Given the description of an element on the screen output the (x, y) to click on. 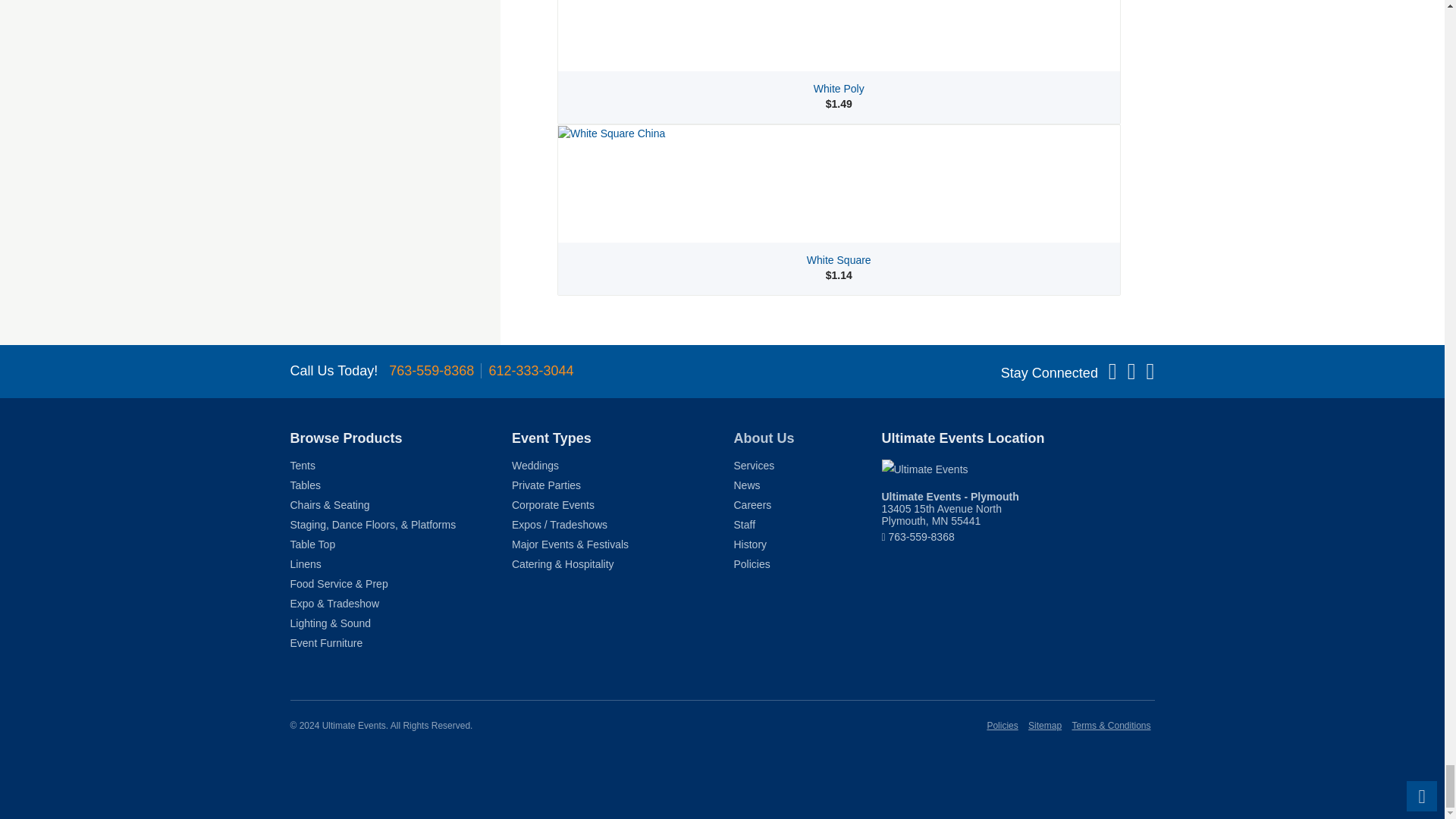
opens new window (948, 508)
opens new window (1017, 469)
